Given the description of an element on the screen output the (x, y) to click on. 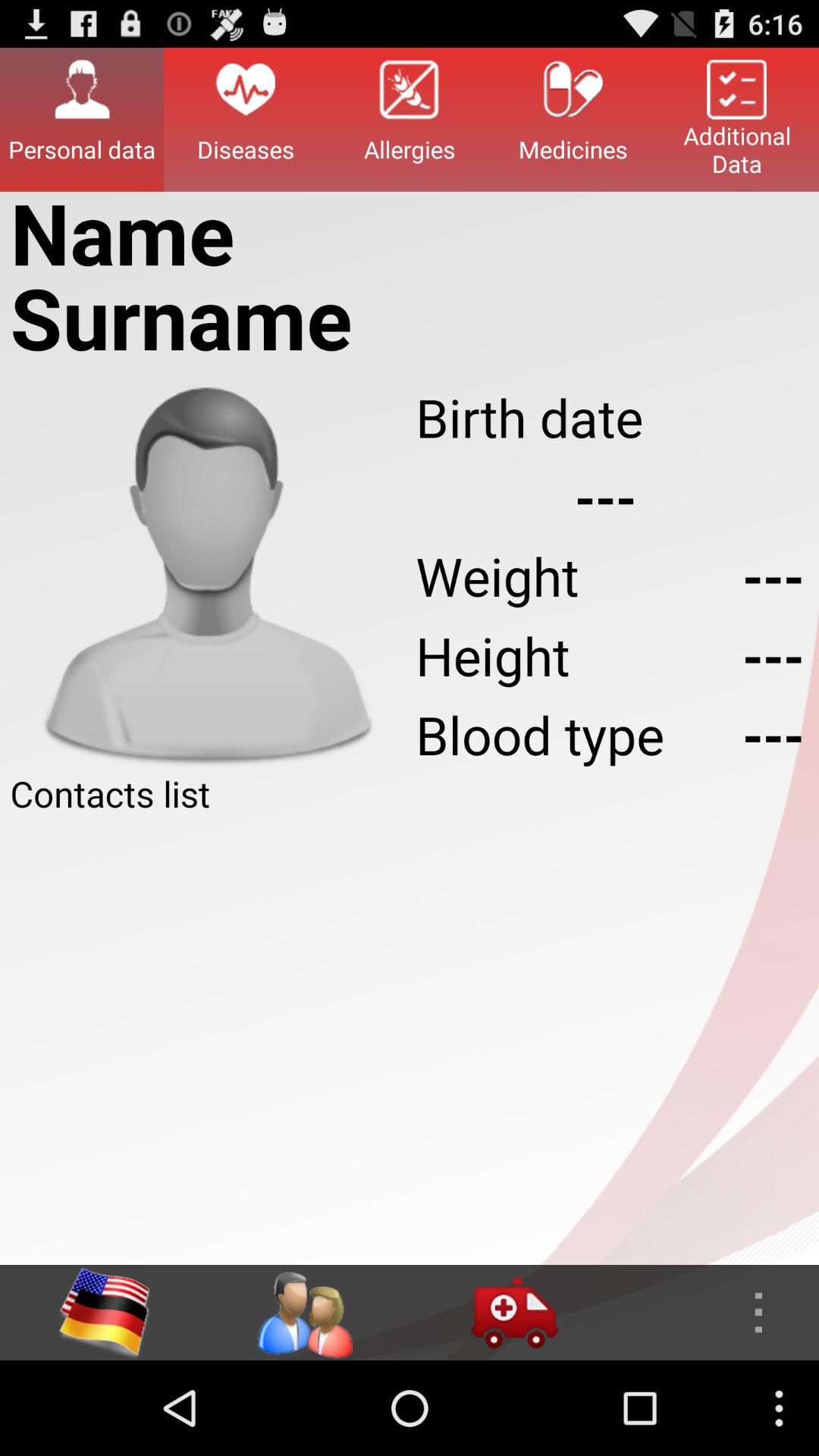
more options (713, 1312)
